Given the description of an element on the screen output the (x, y) to click on. 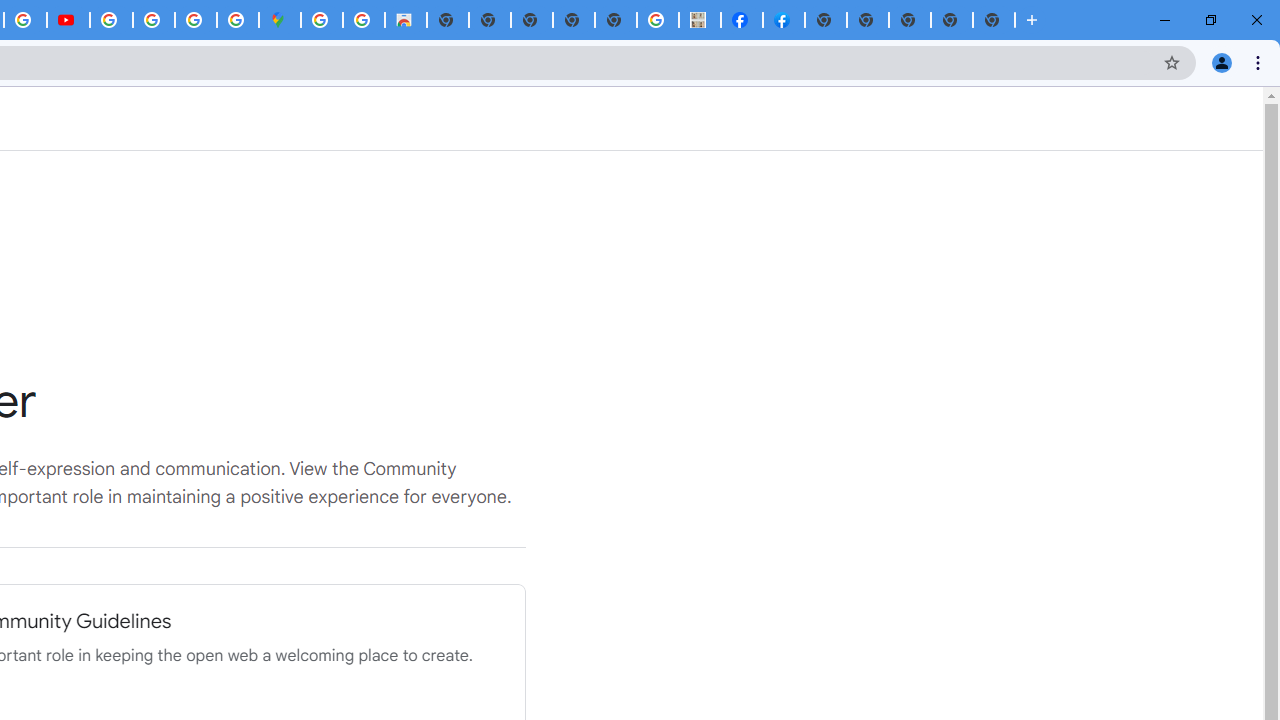
New Tab (993, 20)
Chrome Web Store - Shopping (406, 20)
New Tab (826, 20)
